Given the description of an element on the screen output the (x, y) to click on. 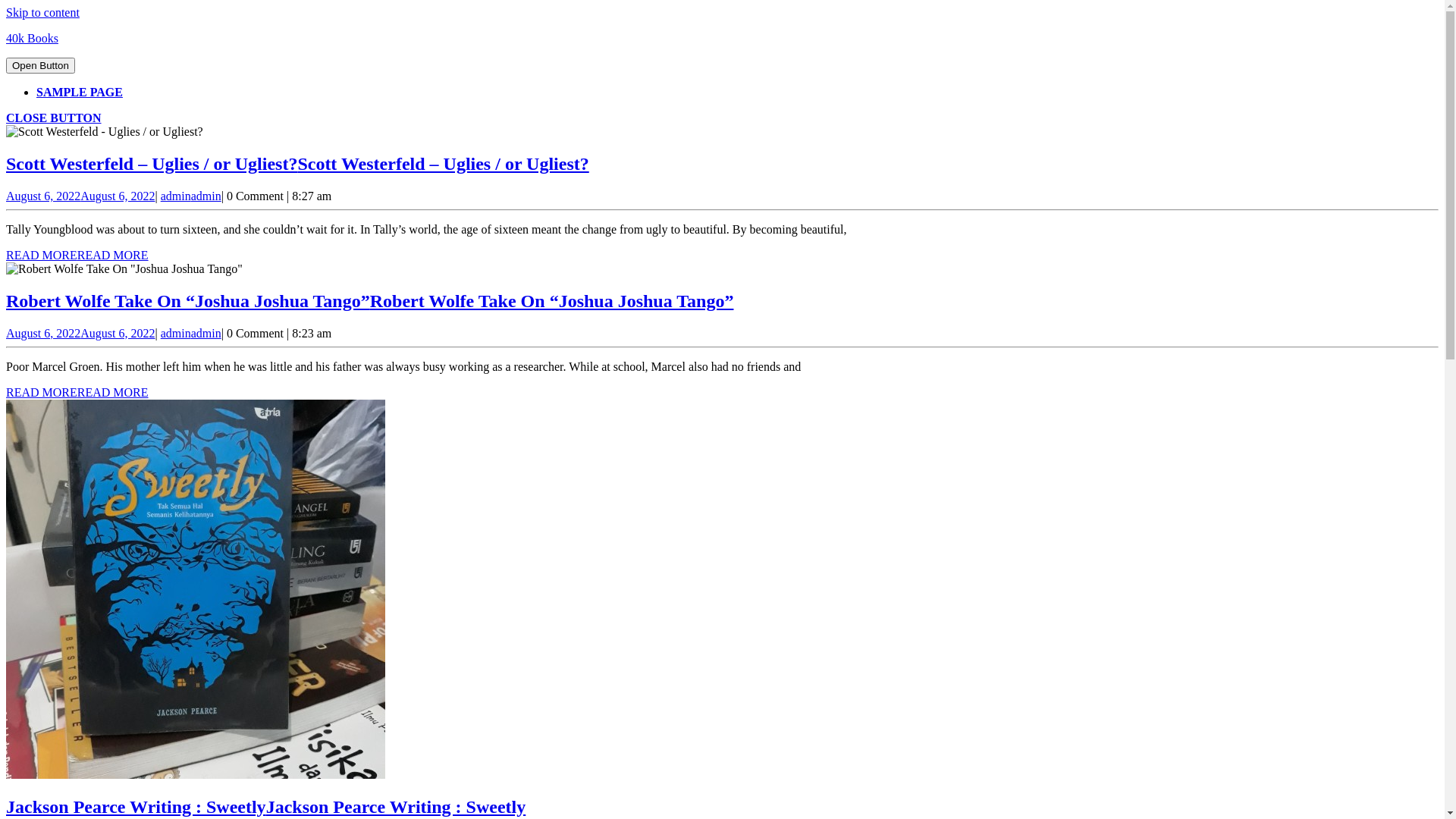
Open Button Element type: text (40, 65)
40k Books Element type: text (32, 37)
Skip to content Element type: text (42, 12)
CLOSE BUTTON Element type: text (53, 117)
adminadmin Element type: text (190, 195)
August 6, 2022August 6, 2022 Element type: text (80, 195)
August 6, 2022August 6, 2022 Element type: text (80, 332)
READ MOREREAD MORE Element type: text (77, 391)
adminadmin Element type: text (190, 332)
SAMPLE PAGE Element type: text (79, 91)
READ MOREREAD MORE Element type: text (77, 254)
